Given the description of an element on the screen output the (x, y) to click on. 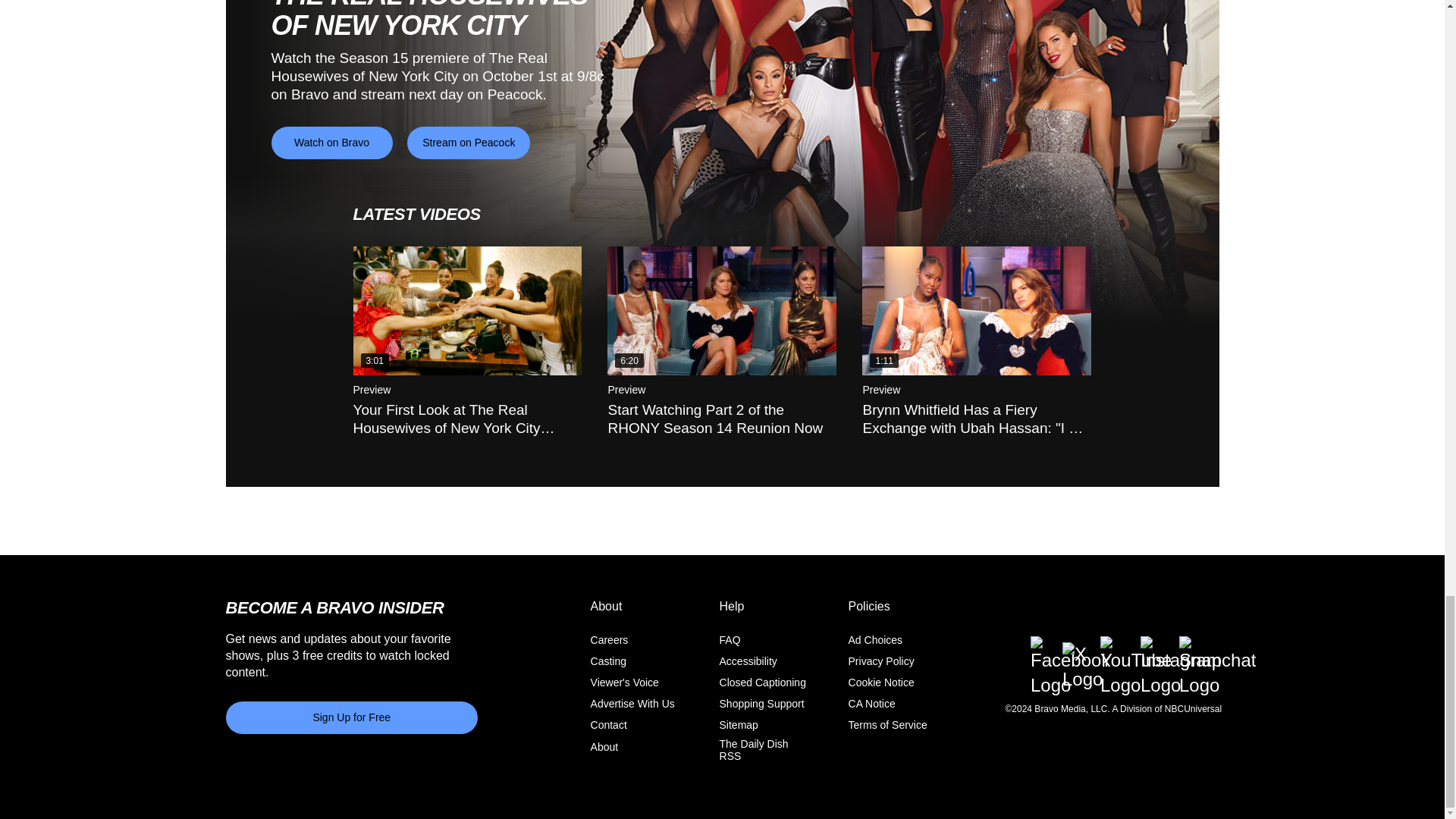
Start Watching Part 2 of the RHONY Season 14 Reunion Now (721, 310)
Advertise With Us (633, 703)
